Given the description of an element on the screen output the (x, y) to click on. 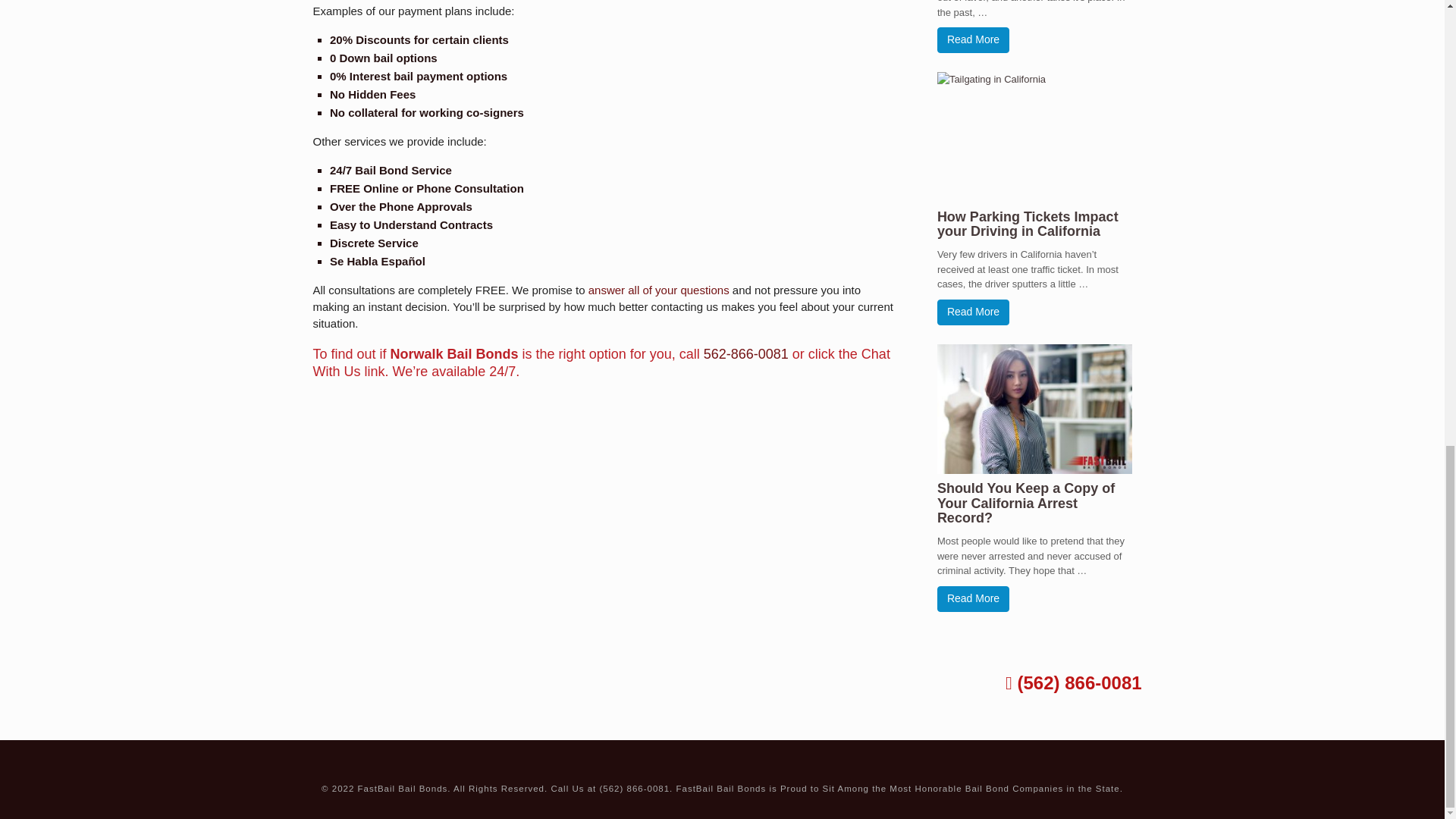
Should You Keep a Copy of Your California Arrest Record? (1026, 503)
562-866-0081 (746, 353)
Read More (973, 40)
Read More (973, 598)
How Parking Tickets Impact your Driving in California (1027, 224)
Read More (973, 312)
answer all of your questions (658, 289)
